Given the description of an element on the screen output the (x, y) to click on. 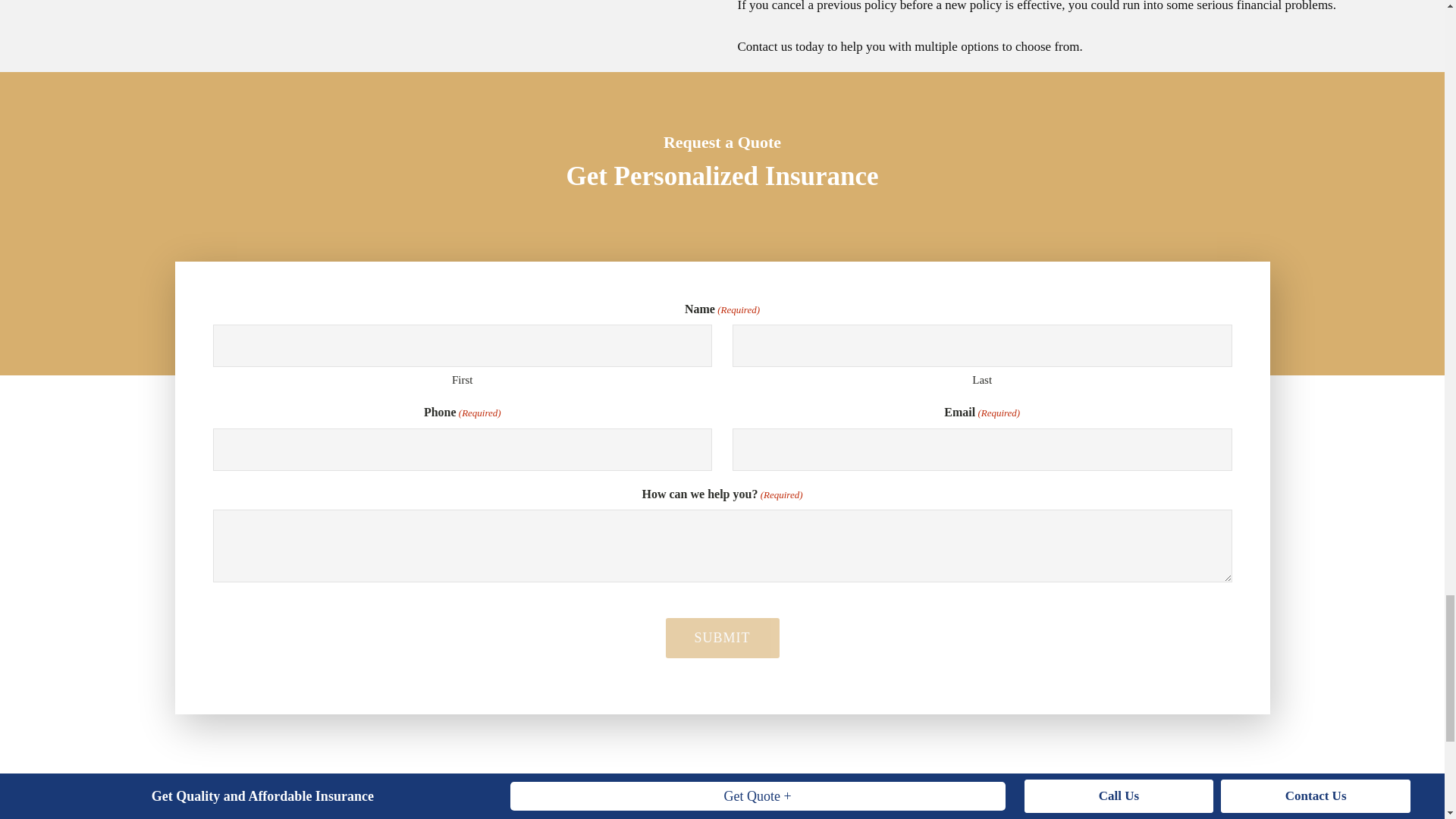
Submit (721, 638)
Submit (721, 638)
